Given the description of an element on the screen output the (x, y) to click on. 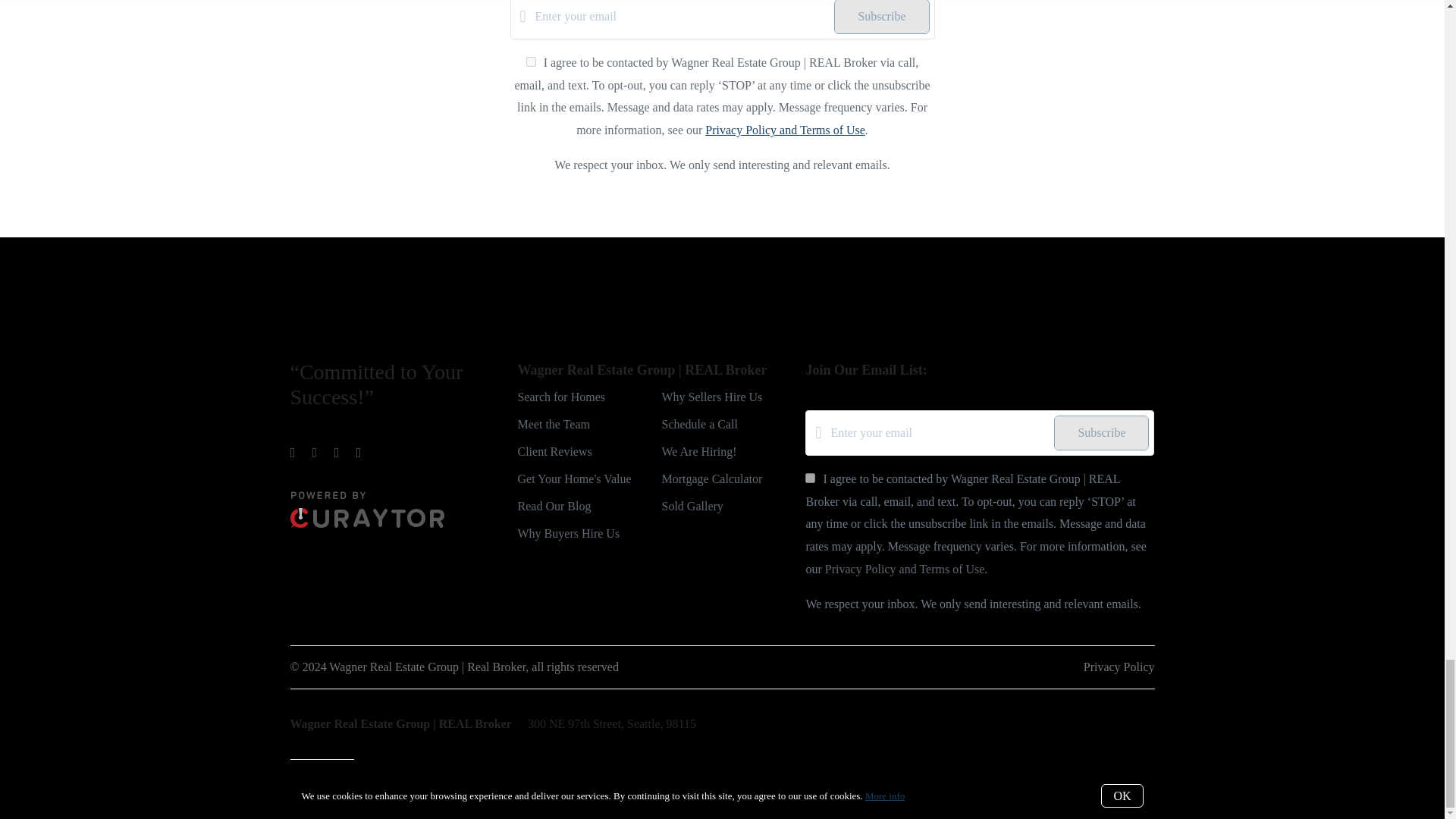
Client Reviews (553, 451)
Privacy Policy and Terms of Use (784, 129)
Meet the Team (552, 423)
Why Sellers Hire Us (711, 396)
Read Our Blog (553, 505)
Search for Homes (560, 396)
on (810, 478)
Get Your Home's Value (573, 478)
Schedule a Call (698, 423)
Why Buyers Hire Us (568, 533)
curaytor-horizontal (366, 522)
on (530, 61)
Subscribe (881, 17)
curaytor-horizontal (366, 509)
